Given the description of an element on the screen output the (x, y) to click on. 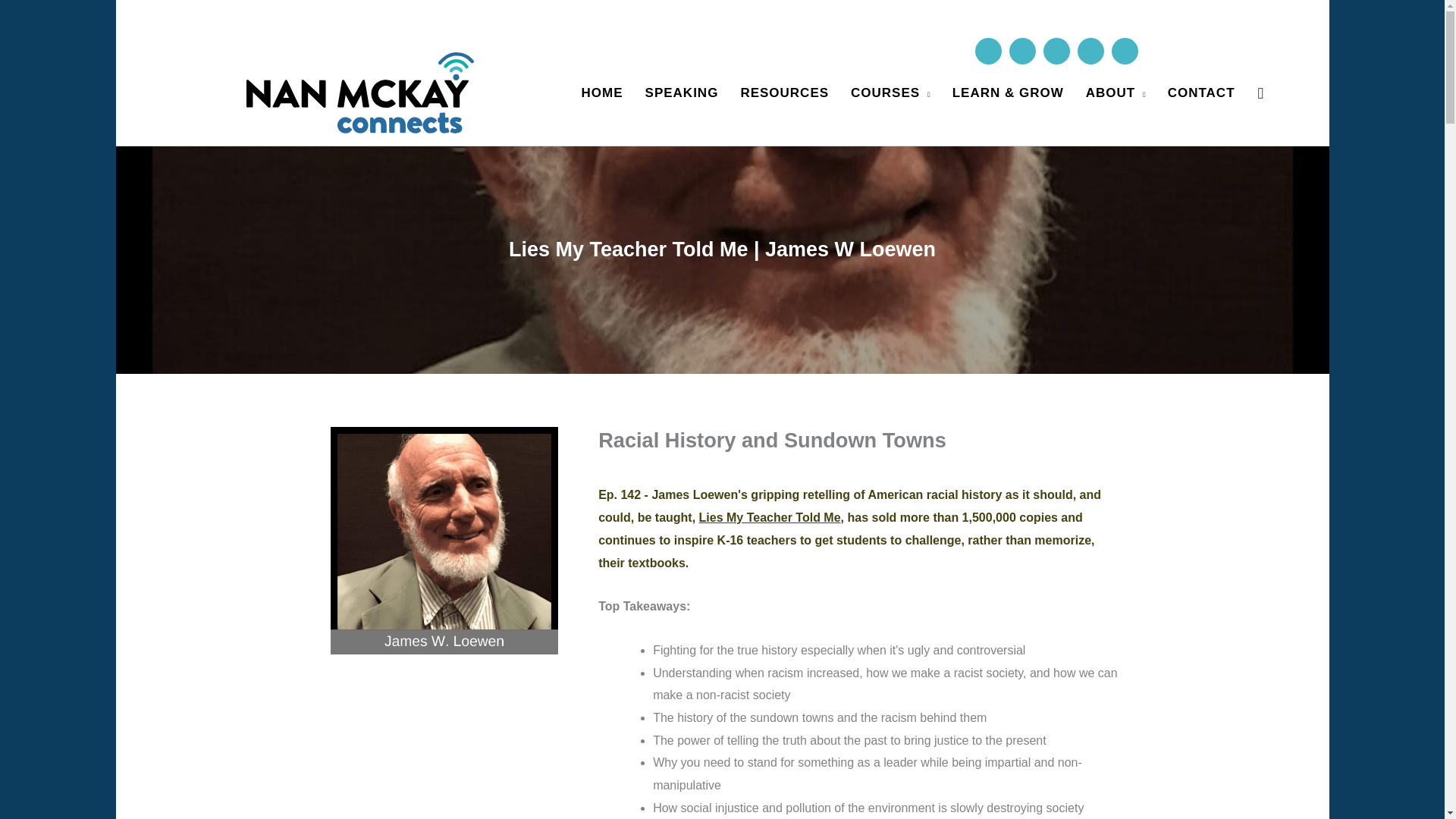
SPEAKING (681, 93)
CONTACT (1201, 93)
James-W.-Loewen (443, 540)
RESOURCES (783, 93)
ABOUT (1115, 93)
COURSES (890, 93)
